Given the description of an element on the screen output the (x, y) to click on. 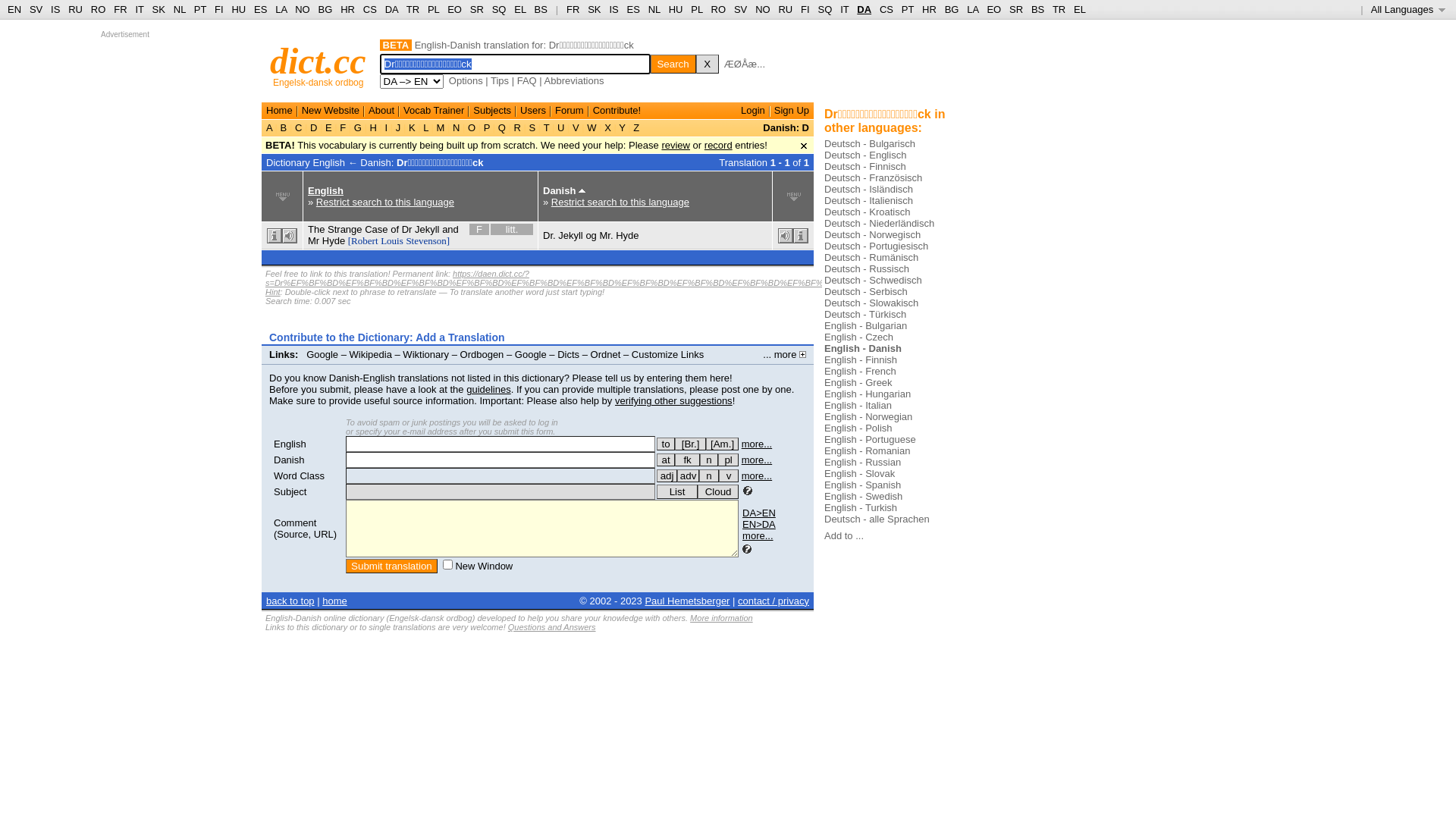
RU Element type: text (785, 9)
Login Element type: text (752, 110)
EN Element type: text (14, 9)
og Element type: text (590, 235)
Dr Element type: text (406, 229)
Jekyll Element type: text (426, 229)
Contribute! Element type: text (617, 110)
HR Element type: text (347, 9)
English - Turkish Element type: text (860, 507)
Home Element type: text (279, 110)
T Element type: text (546, 127)
LA Element type: text (280, 9)
record Element type: text (718, 144)
Paul Hemetsberger Element type: text (686, 600)
IT Element type: text (844, 9)
Deutsch - Norwegisch Element type: text (872, 234)
J Element type: text (397, 127)
Hint Element type: text (272, 291)
Deutsch - alle Sprachen Element type: text (876, 518)
English - Norwegian Element type: text (868, 416)
Strange Element type: text (344, 229)
of Element type: text (394, 229)
SR Element type: text (476, 9)
Deutsch - Russisch Element type: text (866, 268)
More information Element type: text (721, 617)
EN>DA Element type: text (758, 524)
HR Element type: text (929, 9)
more... Element type: text (757, 535)
SV Element type: text (35, 9)
verifying other suggestions Element type: text (673, 400)
Deutsch - Italienisch Element type: text (868, 200)
... more Element type: text (784, 354)
English - Danish Element type: text (862, 348)
English Element type: text (325, 190)
[Robert Element type: text (363, 240)
D Element type: text (313, 127)
guidelines Element type: text (488, 389)
FI Element type: text (218, 9)
P Element type: text (486, 127)
Dictionary Element type: text (288, 161)
B Element type: text (283, 127)
Users Element type: text (533, 110)
Vocab Trainer Element type: text (433, 110)
(esp.) American English Element type: hover (722, 443)
Ordnet Element type: text (605, 354)
X Element type: text (608, 127)
O Element type: text (470, 127)
home Element type: text (334, 600)
Danish: D Element type: text (785, 127)
CS Element type: text (369, 9)
S Element type: text (532, 127)
E Element type: text (328, 127)
Options Element type: text (465, 80)
TR Element type: text (412, 9)
English - Russian Element type: text (862, 461)
English - Czech Element type: text (858, 336)
U Element type: text (560, 127)
SK Element type: text (593, 9)
FR Element type: text (572, 9)
Subjects Element type: text (492, 110)
Restrict search to this language Element type: text (620, 201)
RO Element type: text (98, 9)
Jekyll Element type: text (570, 235)
English - Spanish Element type: text (862, 484)
HU Element type: text (675, 9)
Search Element type: text (673, 63)
[Am.] Element type: text (722, 443)
Deutsch - Schwedisch Element type: text (873, 279)
Sign Up Element type: text (791, 110)
LA Element type: text (972, 9)
English - Polish Element type: text (858, 427)
X Element type: text (707, 63)
Deutsch - Kroatisch Element type: text (867, 211)
Cloud Element type: text (717, 491)
ES Element type: text (260, 9)
adv Element type: text (688, 475)
FI Element type: text (804, 9)
review Element type: text (675, 144)
FAQ Element type: text (526, 80)
Ordbogen Element type: text (482, 354)
EO Element type: text (454, 9)
Wiktionary Element type: text (425, 354)
English - Romanian Element type: text (867, 450)
PT Element type: text (907, 9)
Forum Element type: text (569, 110)
English - Greek Element type: text (858, 382)
English - Portuguese Element type: text (870, 439)
Danish Element type: text (288, 459)
SV Element type: text (740, 9)
Deutsch - Englisch Element type: text (865, 154)
New Website Element type: text (330, 110)
F Element type: text (479, 229)
R Element type: text (517, 127)
IT Element type: text (138, 9)
(esp.) British English Element type: hover (690, 443)
RO Element type: text (718, 9)
SQ Element type: text (499, 9)
Stevenson] Element type: text (427, 240)
F Element type: text (342, 127)
dict.cc Element type: text (317, 60)
more... Element type: text (756, 475)
back to top Element type: text (290, 600)
Questions and Answers Element type: text (552, 626)
English - Bulgarian Element type: text (865, 325)
more... Element type: text (756, 459)
I Element type: text (386, 127)
English Element type: text (289, 443)
Add to ... Element type: text (843, 534)
Hyde Element type: text (333, 240)
English - Hungarian Element type: text (867, 393)
PL Element type: text (696, 9)
G Element type: text (357, 127)
English - Italian Element type: text (857, 405)
DA Element type: text (863, 9)
N Element type: text (455, 127)
litt. Element type: text (511, 229)
contact / privacy Element type: text (773, 600)
The Element type: text (315, 229)
EL Element type: text (1079, 9)
A Element type: text (270, 127)
FR Element type: text (119, 9)
IS Element type: text (54, 9)
K Element type: text (411, 127)
NO Element type: text (302, 9)
DA>EN Element type: text (758, 512)
Case Element type: text (375, 229)
Deutsch - Slowakisch Element type: text (871, 302)
Deutsch - Serbisch Element type: text (865, 291)
more... Element type: text (756, 443)
English - Swedish Element type: text (863, 496)
IS Element type: text (613, 9)
Restrict search to this language Element type: text (385, 201)
List Element type: text (676, 491)
SR Element type: text (1015, 9)
English - Slovak Element type: text (859, 473)
n Element type: text (708, 459)
EO Element type: text (993, 9)
Submit translation Element type: text (391, 565)
C Element type: text (297, 127)
fk Element type: text (686, 459)
for verber Element type: hover (665, 459)
ES Element type: text (633, 9)
adj Element type: text (666, 475)
BS Element type: text (1037, 9)
Deutsch - Bulgarisch Element type: text (869, 143)
n Element type: text (708, 475)
for verbs Element type: hover (665, 443)
All Languages  Element type: text (1408, 9)
flertal Element type: hover (728, 459)
Deutsch - Portugiesisch Element type: text (876, 245)
Dr. Element type: text (548, 235)
SK Element type: text (158, 9)
Mr. Element type: text (605, 235)
SQ Element type: text (824, 9)
M Element type: text (440, 127)
V Element type: text (575, 127)
to Element type: text (665, 443)
Y Element type: text (621, 127)
CS Element type: text (886, 9)
DA Element type: text (391, 9)
Google Element type: text (530, 354)
Wikipedia Element type: text (370, 354)
PT Element type: text (200, 9)
Deutsch - Finnisch Element type: text (865, 166)
and Element type: text (450, 229)
at Element type: text (665, 459)
Google Element type: text (322, 354)
v Element type: text (728, 475)
PL Element type: text (433, 9)
NL Element type: text (654, 9)
NL Element type: text (179, 9)
NO Element type: text (762, 9)
Choose image ... Element type: text (884, 60)
BG Element type: text (951, 9)
BS Element type: text (540, 9)
TR Element type: text (1058, 9)
H Element type: text (373, 127)
L Element type: text (425, 127)
English - French Element type: text (860, 370)
Mr Element type: text (313, 240)
EL Element type: text (519, 9)
W Element type: text (591, 127)
pl Element type: text (728, 459)
Dicts Element type: text (568, 354)
Abbreviations Element type: text (574, 80)
Hyde Element type: text (626, 235)
HU Element type: text (238, 9)
Tips Element type: text (499, 80)
BG Element type: text (325, 9)
Louis Element type: text (391, 240)
RU Element type: text (75, 9)
[Br.] Element type: text (690, 443)
English - Finnish Element type: text (860, 359)
About Element type: text (381, 110)
Customize Links Element type: text (667, 354)
Z Element type: text (636, 127)
Contribute to the Dictionary: Add a Translation Element type: text (387, 337)
Q Element type: text (501, 127)
